Given the description of an element on the screen output the (x, y) to click on. 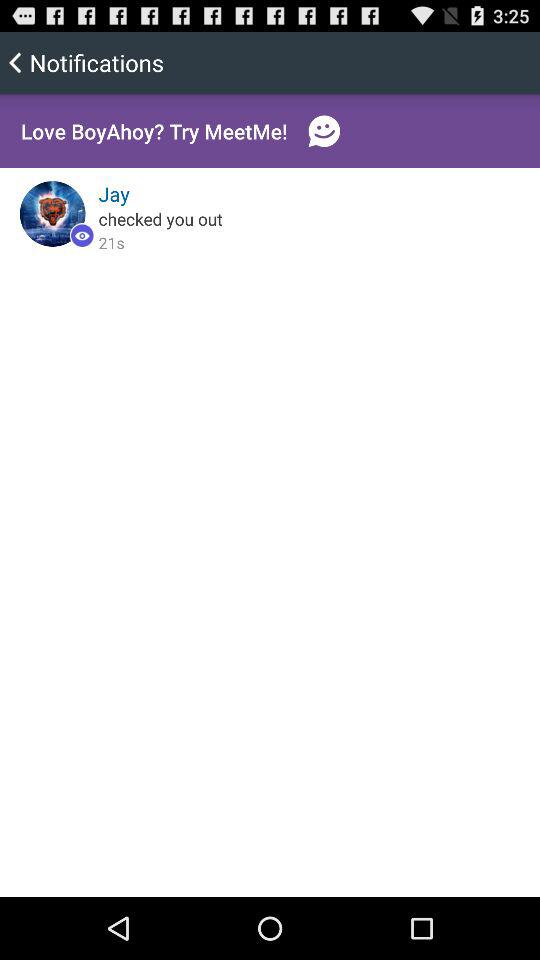
jump to 21s icon (111, 242)
